Given the description of an element on the screen output the (x, y) to click on. 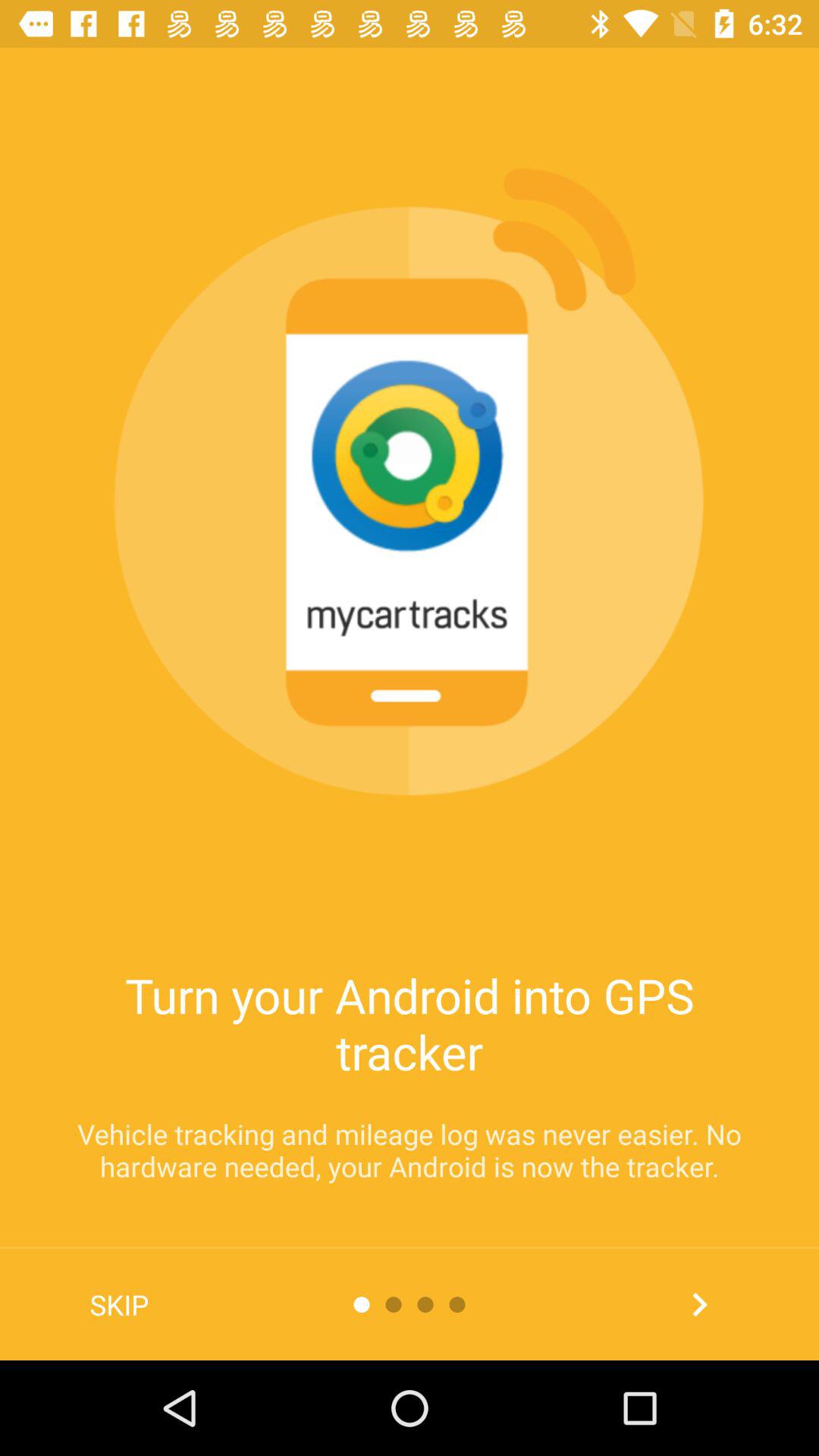
flip to skip (119, 1304)
